Given the description of an element on the screen output the (x, y) to click on. 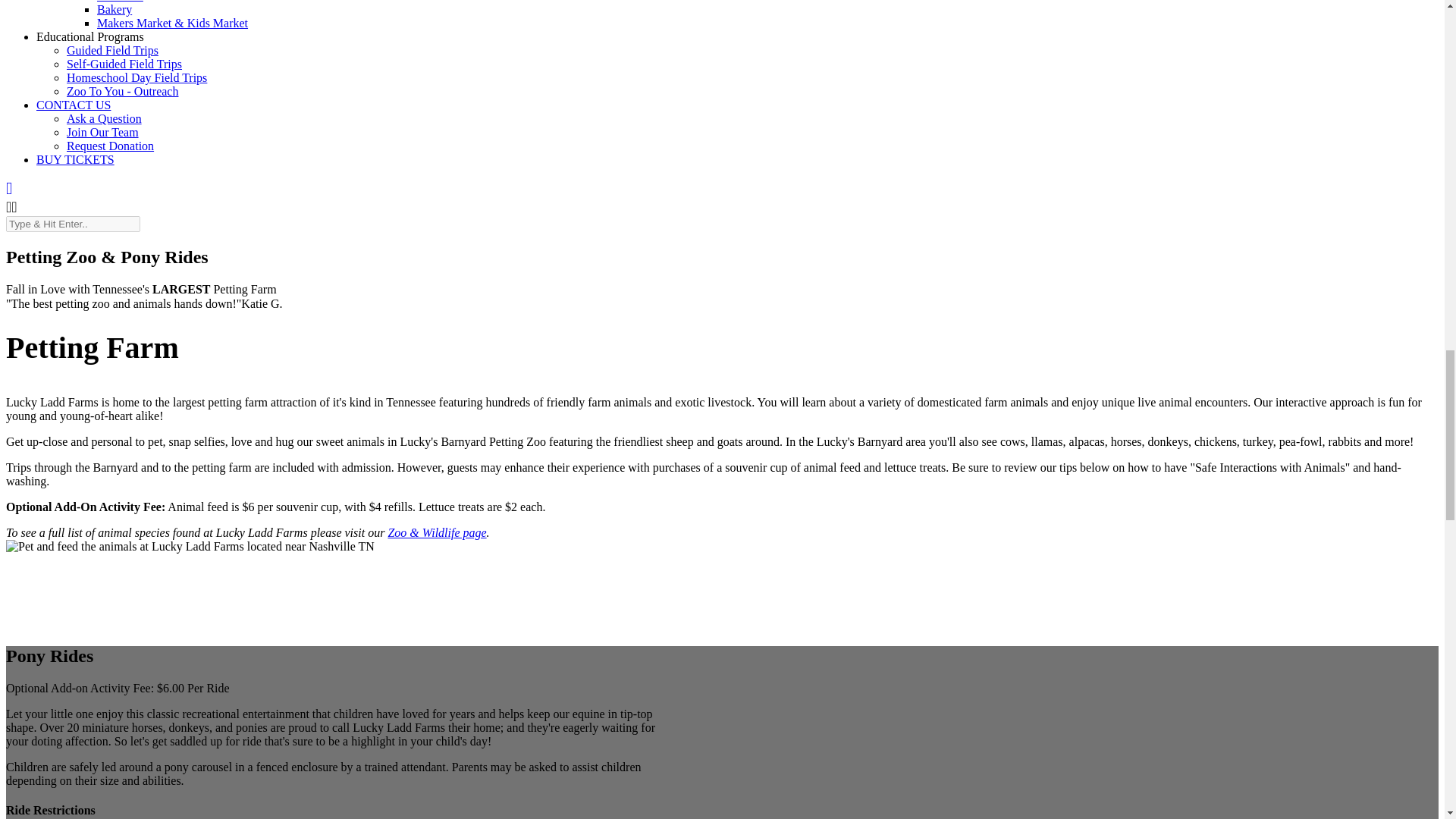
Nashville Area Zoo and Wildlife Park (436, 532)
